Given the description of an element on the screen output the (x, y) to click on. 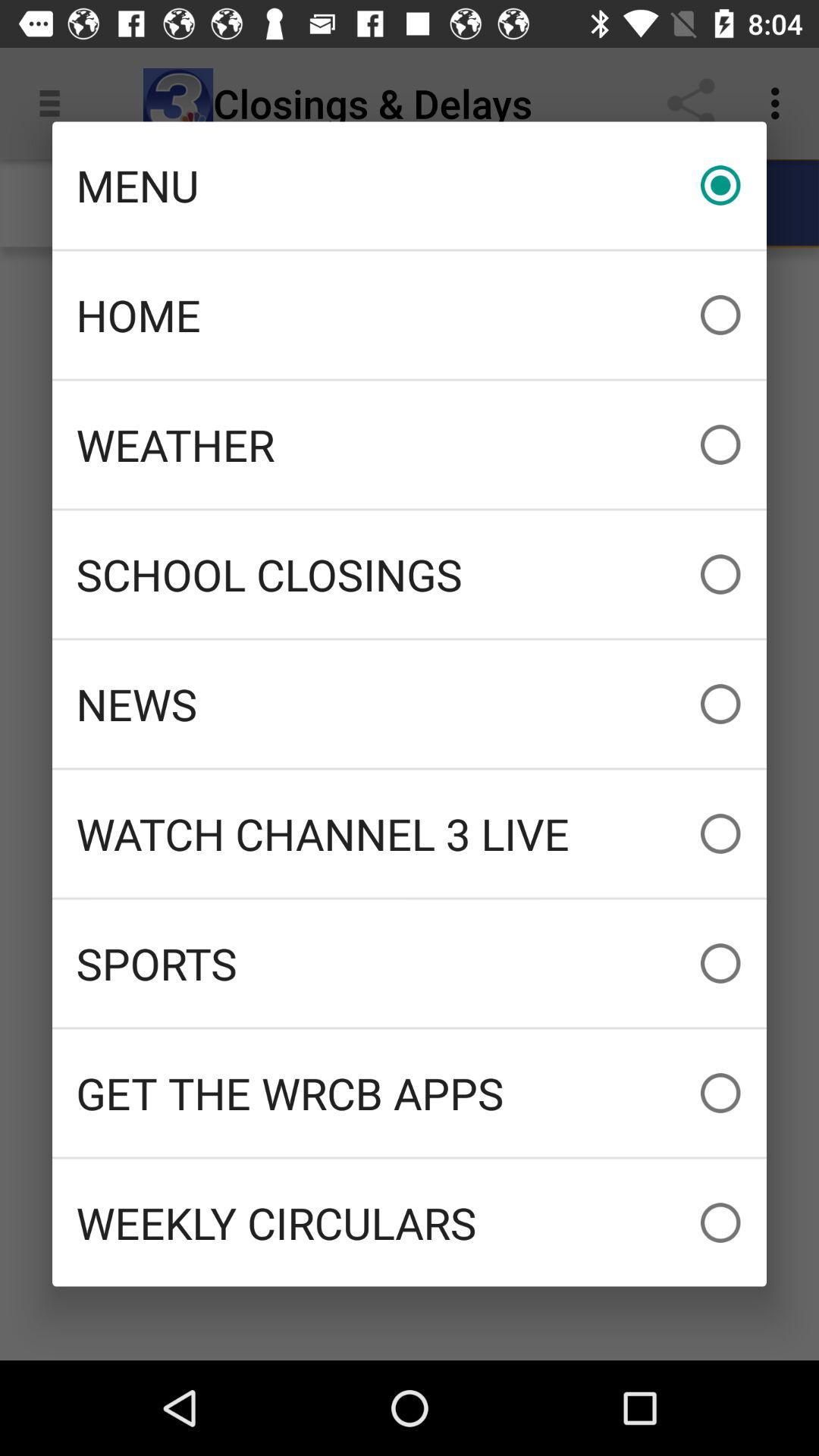
jump until the home item (409, 314)
